Given the description of an element on the screen output the (x, y) to click on. 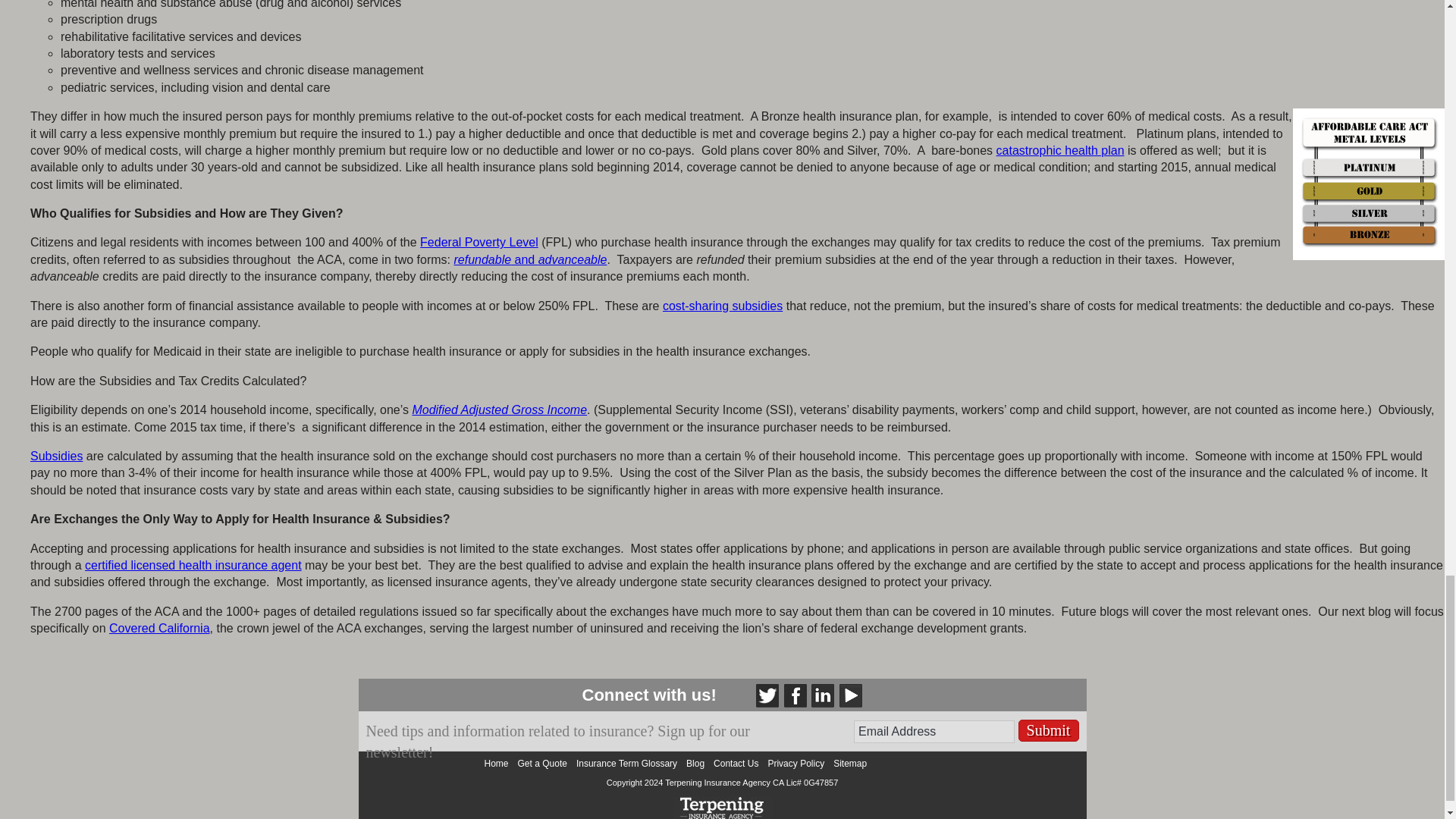
cost-sharing subsidies (722, 305)
Federal Poverty Level (479, 241)
Subsidies (56, 455)
refundable and advanceable (529, 259)
certified licensed health insurance agent (192, 564)
Covered California (159, 627)
catastrophic health plan (1059, 150)
Modified Adjusted Gross Income (499, 409)
Submit (1047, 730)
Email Address (933, 731)
